Given the description of an element on the screen output the (x, y) to click on. 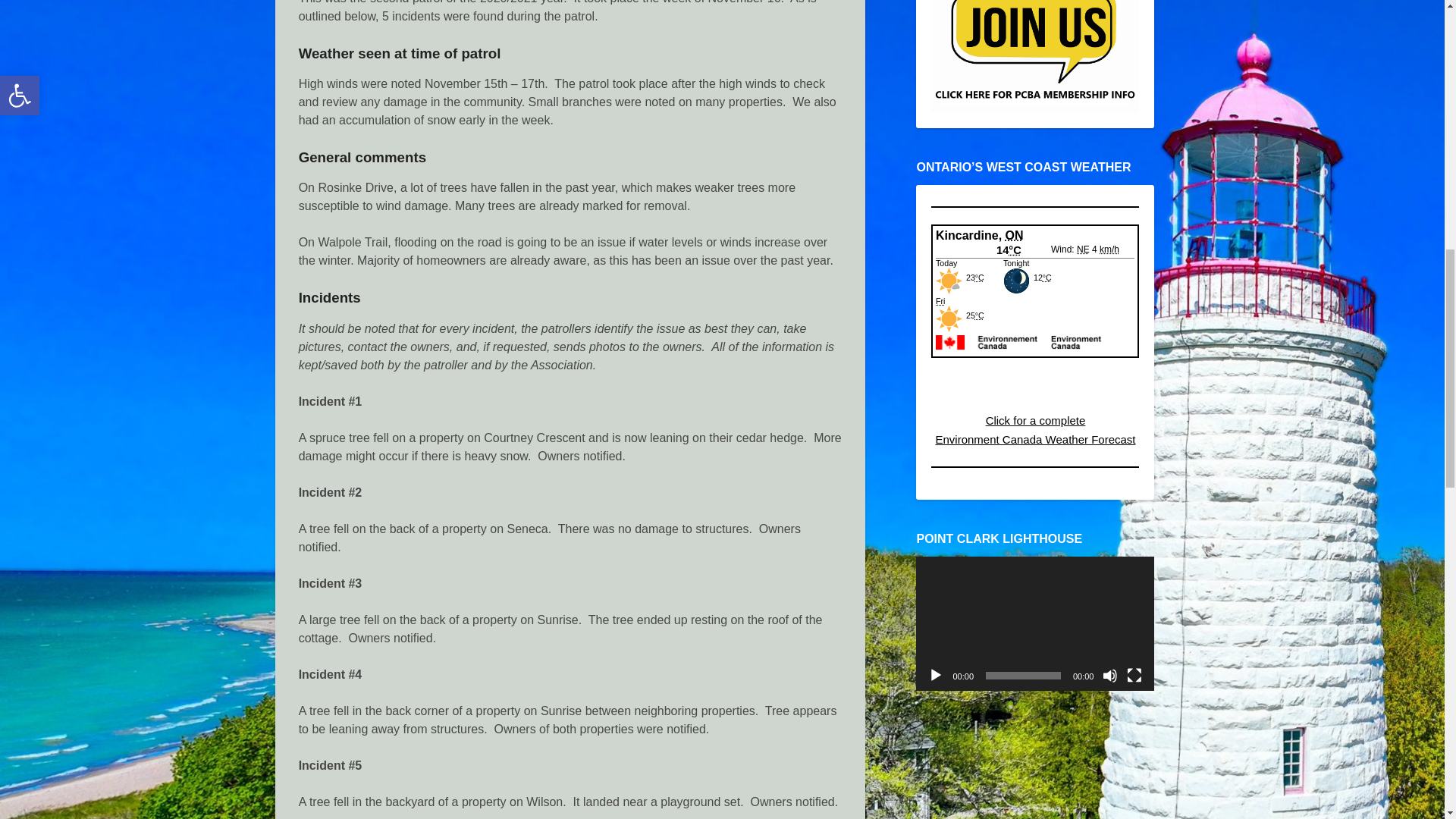
Play (935, 675)
Environment Canada Weather (1034, 315)
Mute (1110, 675)
Fullscreen (1133, 675)
